Given the description of an element on the screen output the (x, y) to click on. 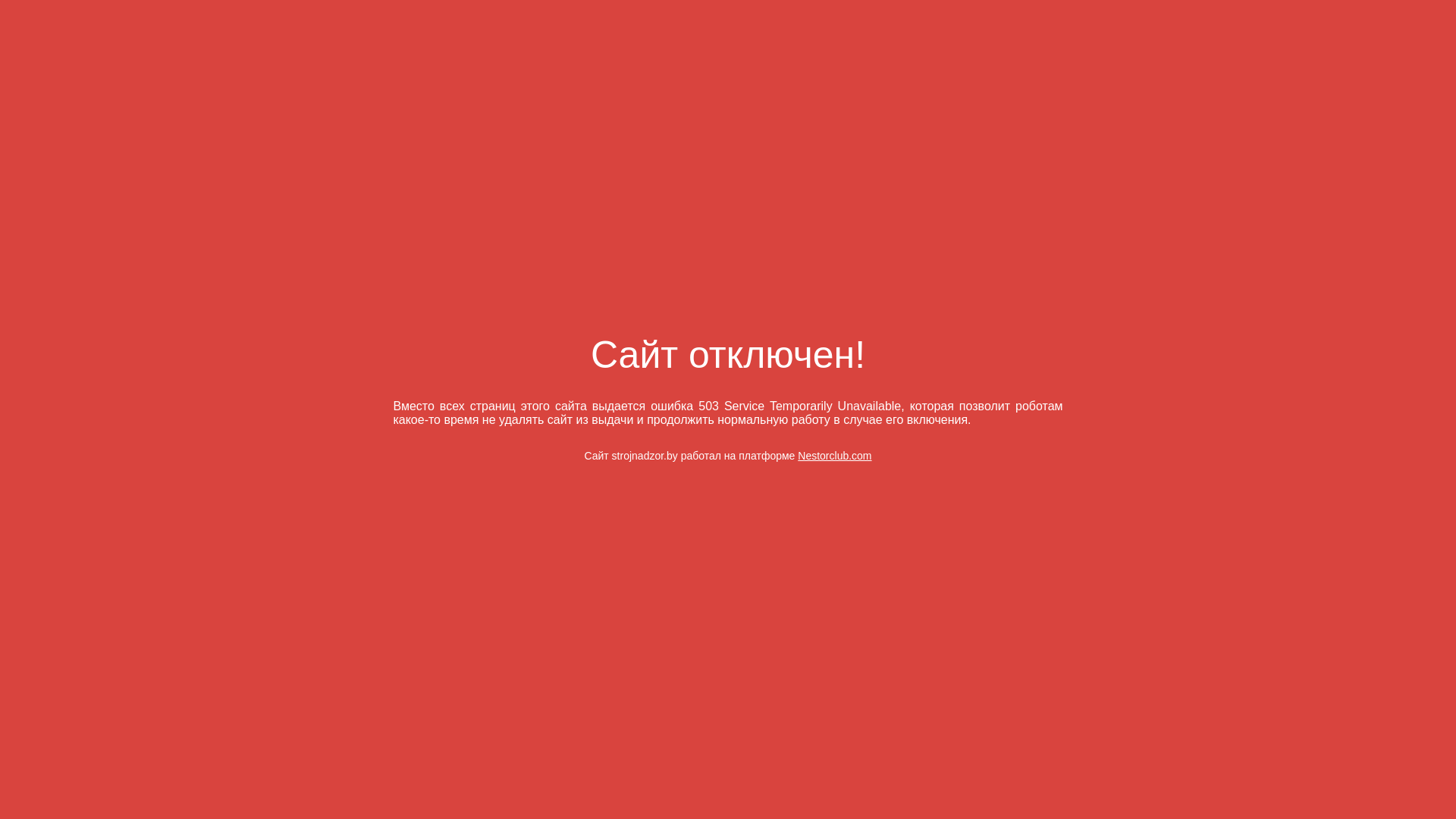
Nestorclub.com Element type: text (834, 455)
